Given the description of an element on the screen output the (x, y) to click on. 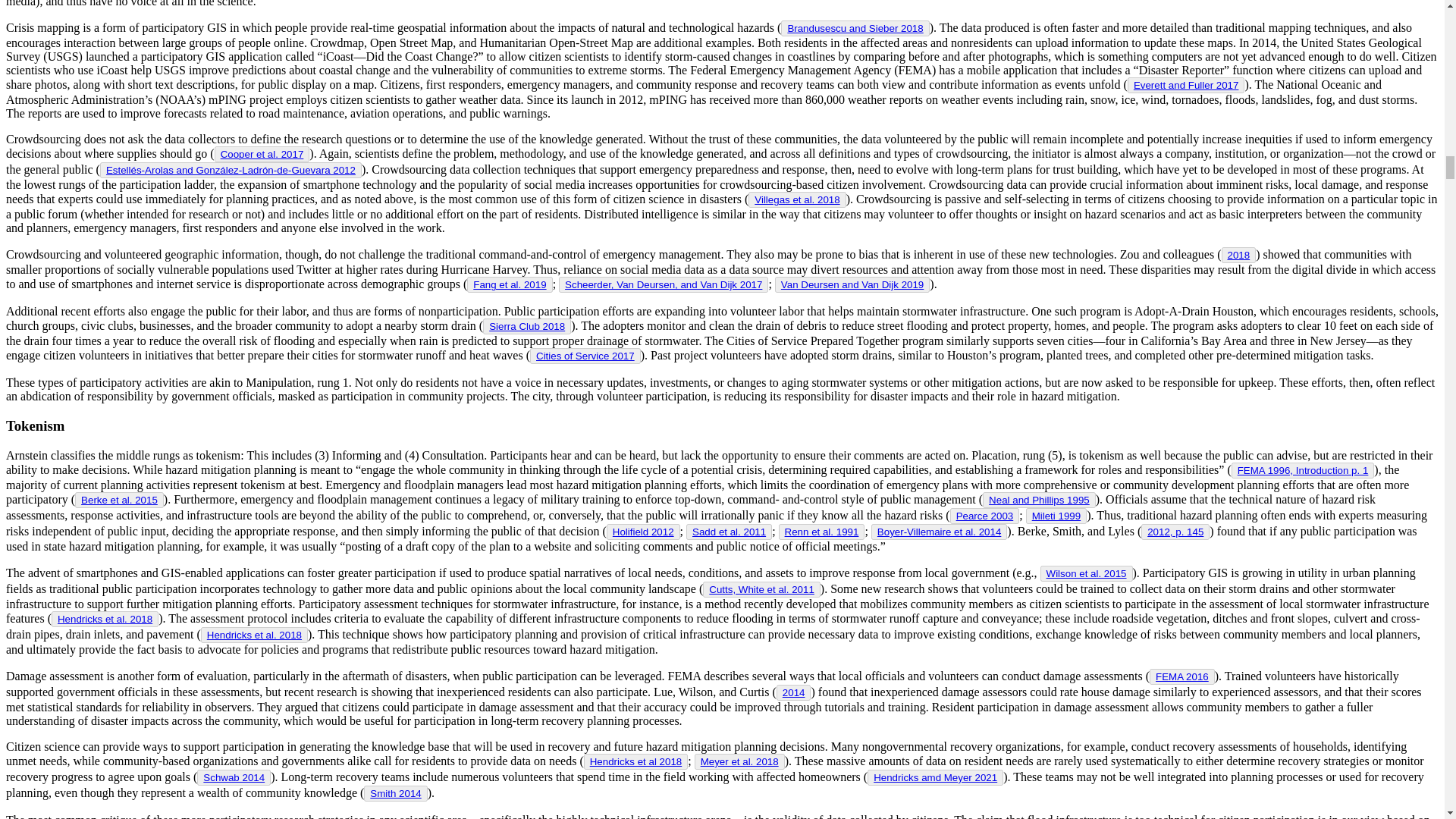
FEMA 1996, Introduction p. 1 (1302, 470)
Neal and Phillips 1995 (1038, 500)
Wilson et al. 2015 (1086, 573)
Mileti 1999 (1056, 515)
Hendricks et al. 2018 (105, 618)
Boyer-Villemaire et al. 2014 (939, 531)
Cities of Service 2017 (584, 355)
2014 (794, 692)
Sierra Club 2018 (526, 326)
Berke et al. 2015 (119, 500)
Smith 2014 (394, 793)
Villegas et al. 2018 (797, 199)
FEMA 2016 (1182, 676)
Meyer et al. 2018 (739, 761)
Cooper et al. 2017 (262, 153)
